Given the description of an element on the screen output the (x, y) to click on. 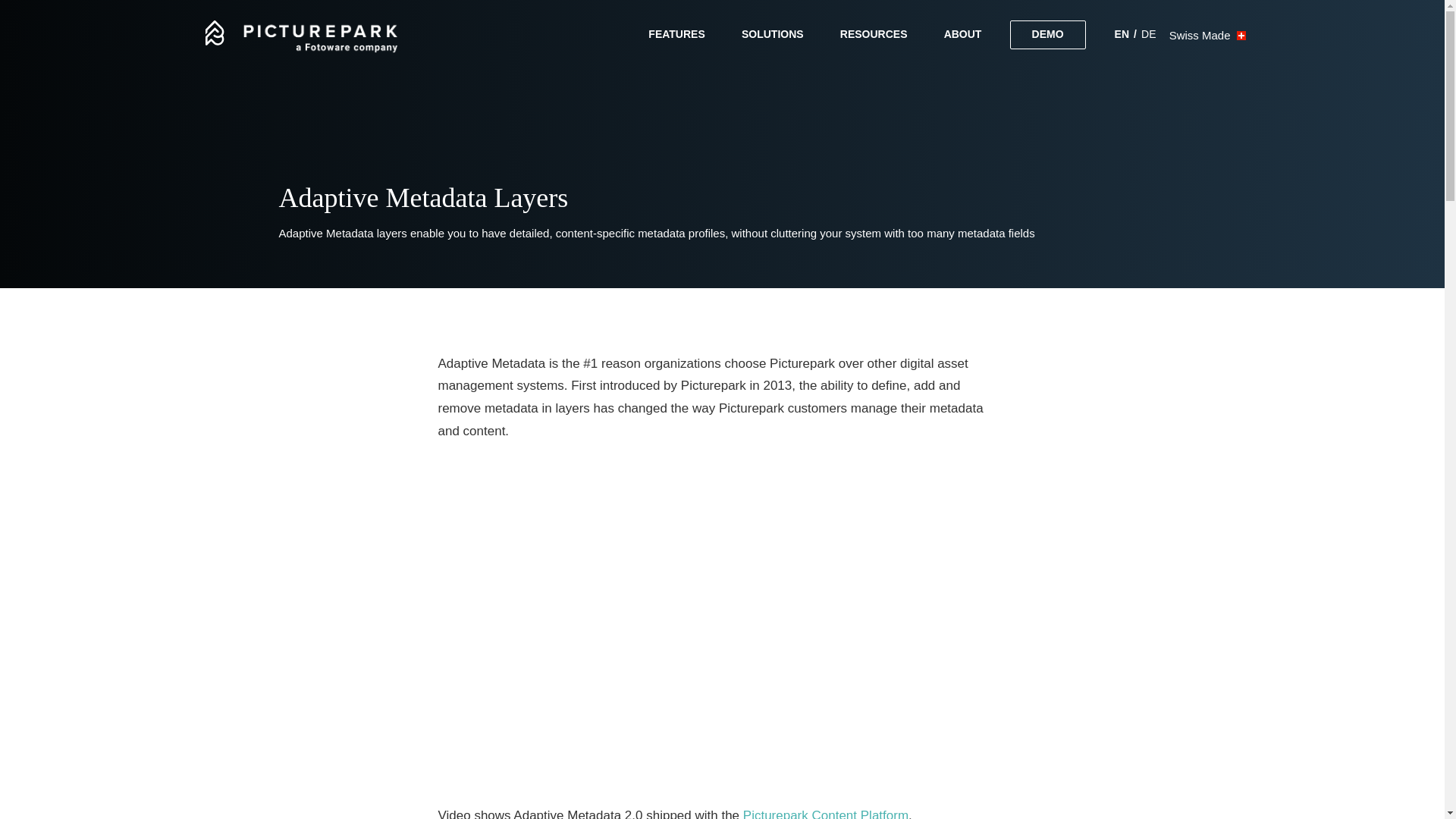
DEMO (1048, 34)
SOLUTIONS (772, 34)
RESOURCES (874, 34)
ABOUT (963, 34)
FEATURES (676, 34)
